Given the description of an element on the screen output the (x, y) to click on. 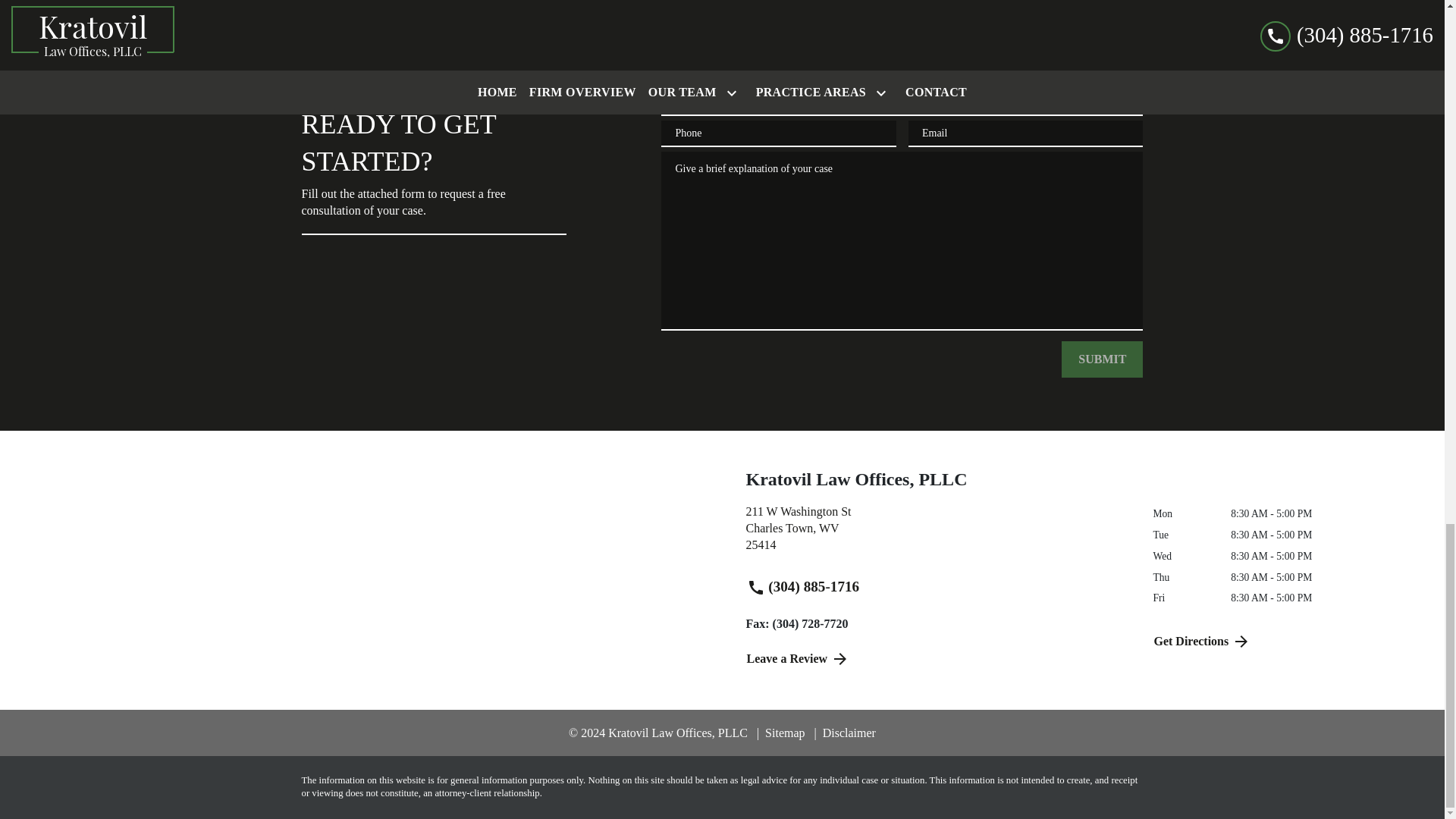
Sitemap (781, 732)
Get Directions (938, 534)
Leave a Review (1287, 641)
Disclaimer (938, 658)
SUBMIT (844, 732)
